Given the description of an element on the screen output the (x, y) to click on. 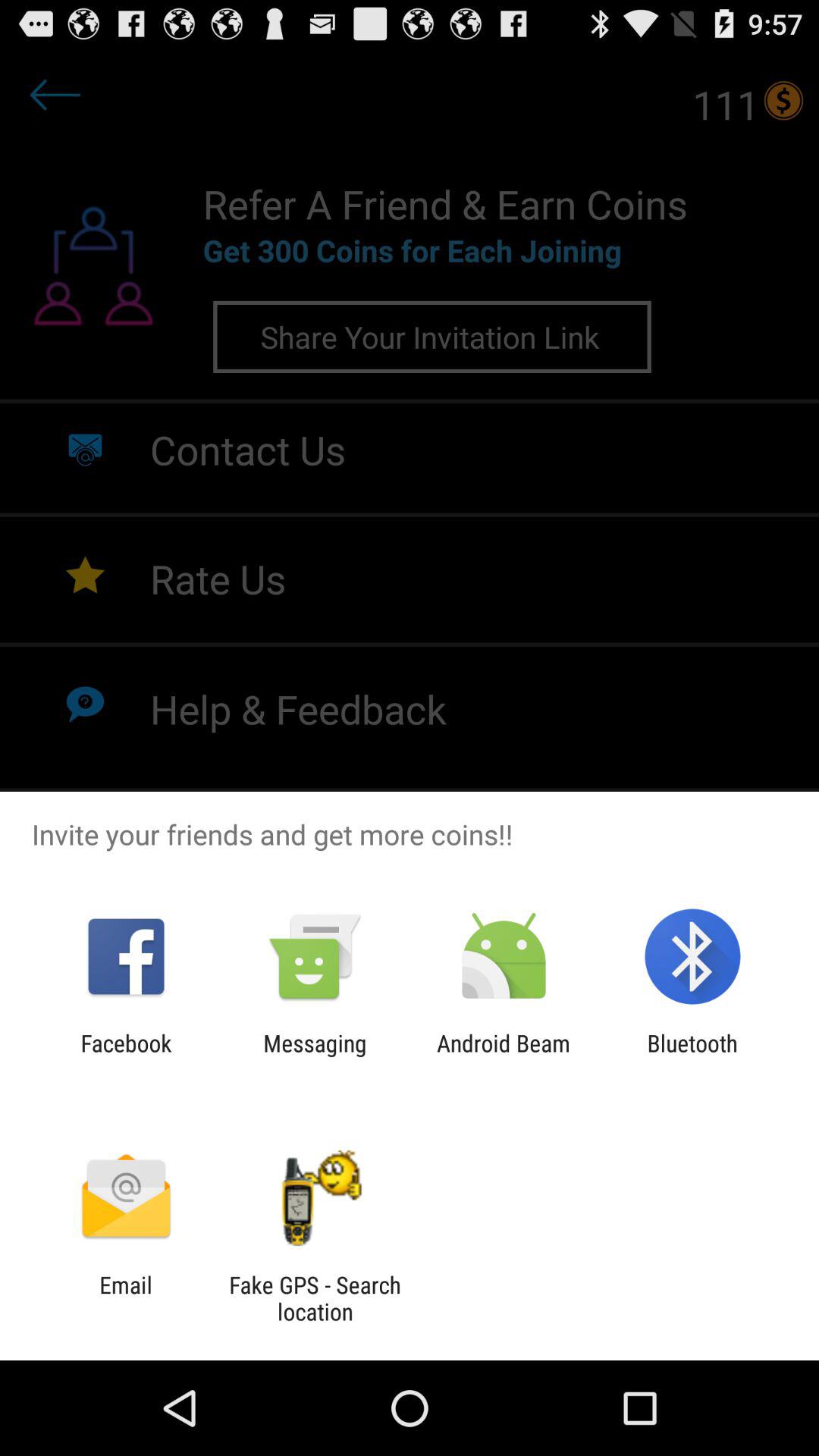
scroll to the bluetooth icon (692, 1056)
